Given the description of an element on the screen output the (x, y) to click on. 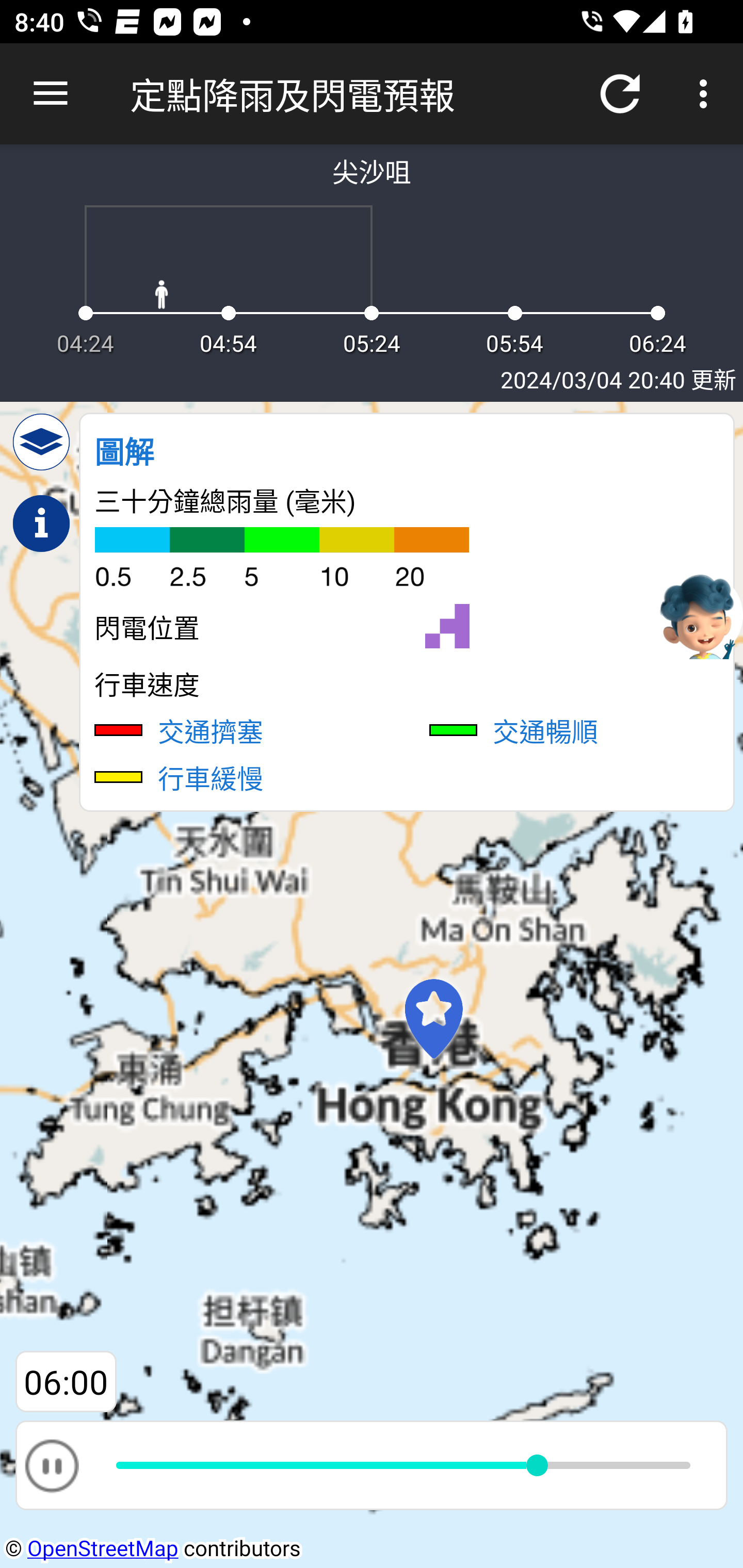
向上瀏覽 (50, 93)
重新整理 (619, 93)
更多選項 (706, 93)
選擇 圖層 (40, 441)
圖解 三十分鐘總雨量 (毫米) 降雨圖解 閃電位置 行車速度 交通擠塞 交通暢順 行車緩慢 (406, 612)
已選擇 說明 (40, 523)
聊天機械人 (699, 614)
06:00 (65, 1381)
暫停 11.0 (371, 1464)
暫停 (50, 1464)
